Given the description of an element on the screen output the (x, y) to click on. 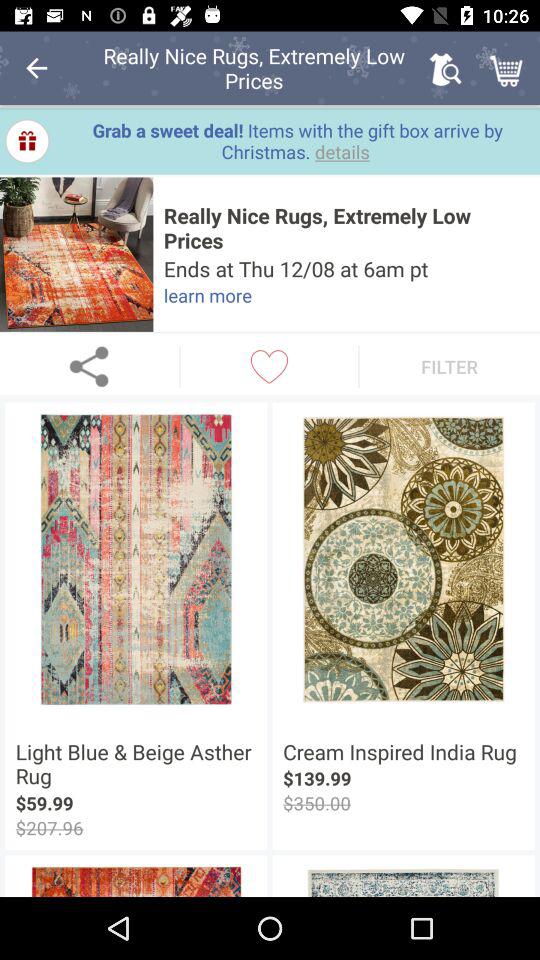
choose the item next to the really nice rugs item (36, 68)
